Given the description of an element on the screen output the (x, y) to click on. 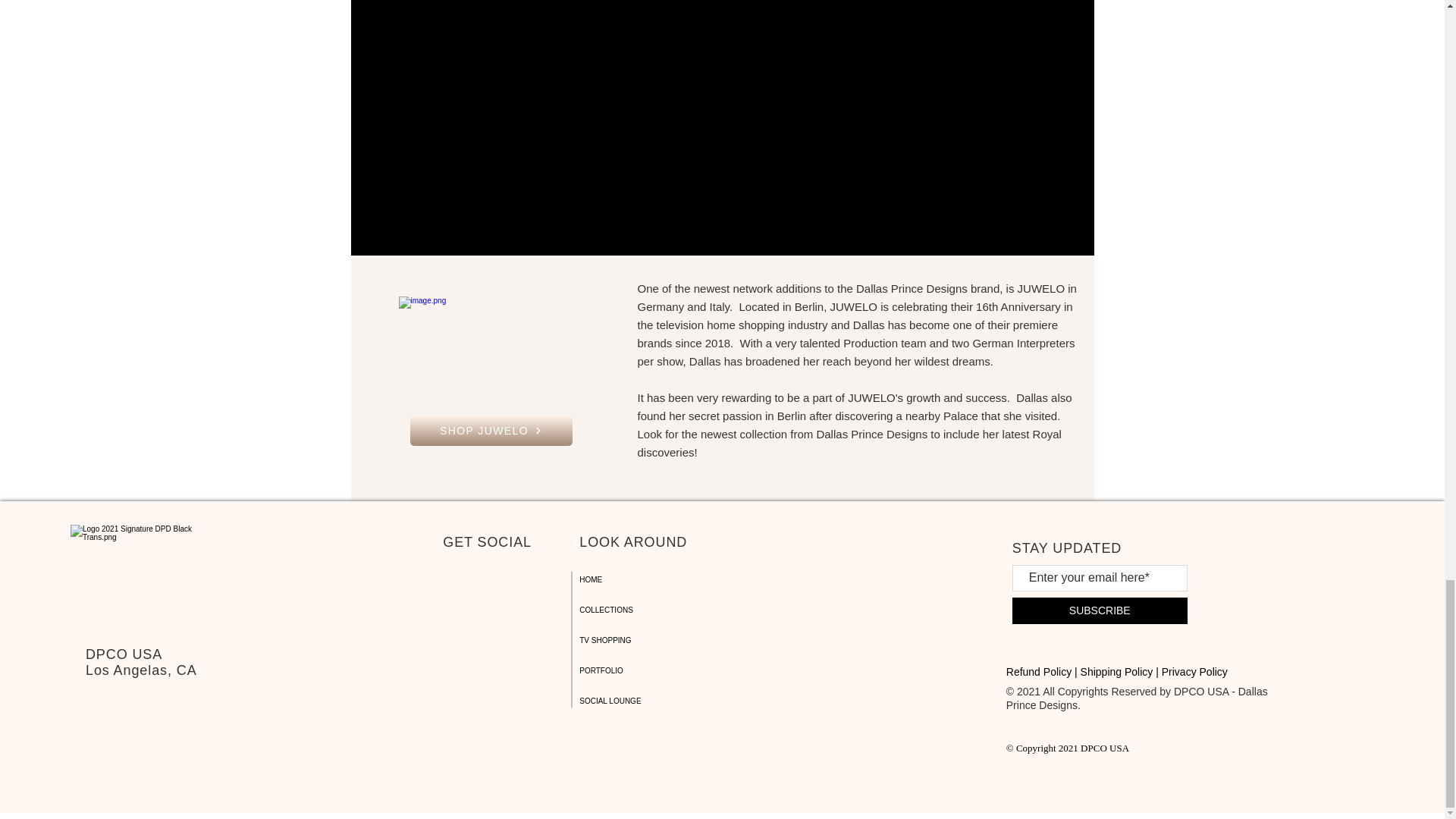
Refund Policy (1038, 671)
COLLECTIONS (632, 610)
Shipping Policy (1116, 671)
PORTFOLIO (632, 671)
SHOP JUWELO (490, 430)
SUBSCRIBE (1099, 610)
HOME (632, 580)
SOCIAL LOUNGE (632, 701)
Privacy Policy (1194, 671)
TV SHOPPING (632, 640)
